Given the description of an element on the screen output the (x, y) to click on. 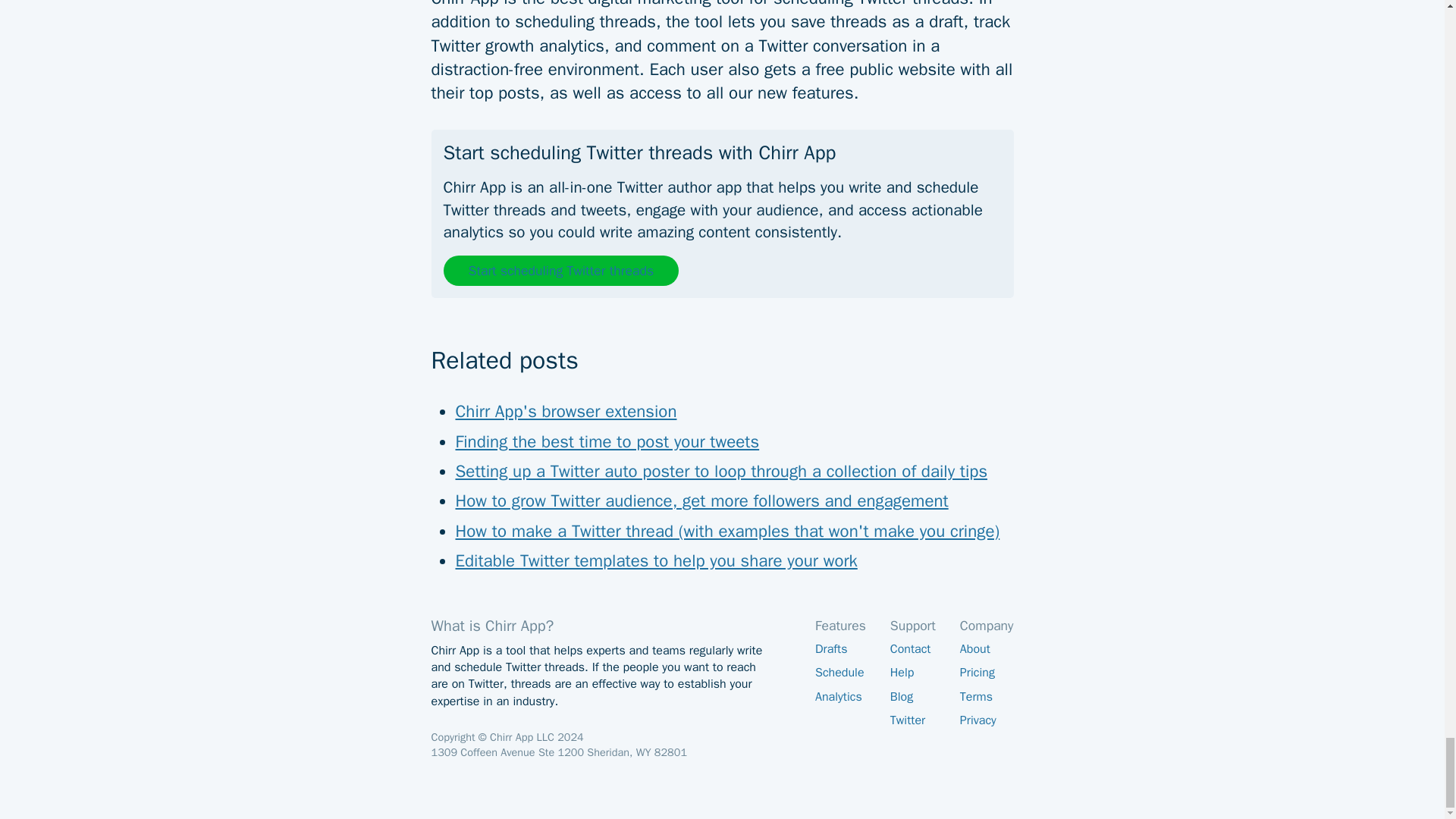
Privacy (986, 720)
Related posts (721, 348)
Editable Twitter templates to help you share your work (655, 561)
Chirr App's browser extension (565, 412)
Finding the best time to post your tweets (606, 442)
Twitter (912, 720)
Contact (912, 649)
Start scheduling Twitter threads (560, 270)
Blog (912, 697)
Pricing (986, 673)
Drafts (840, 649)
Help (912, 673)
Schedule (840, 673)
